Given the description of an element on the screen output the (x, y) to click on. 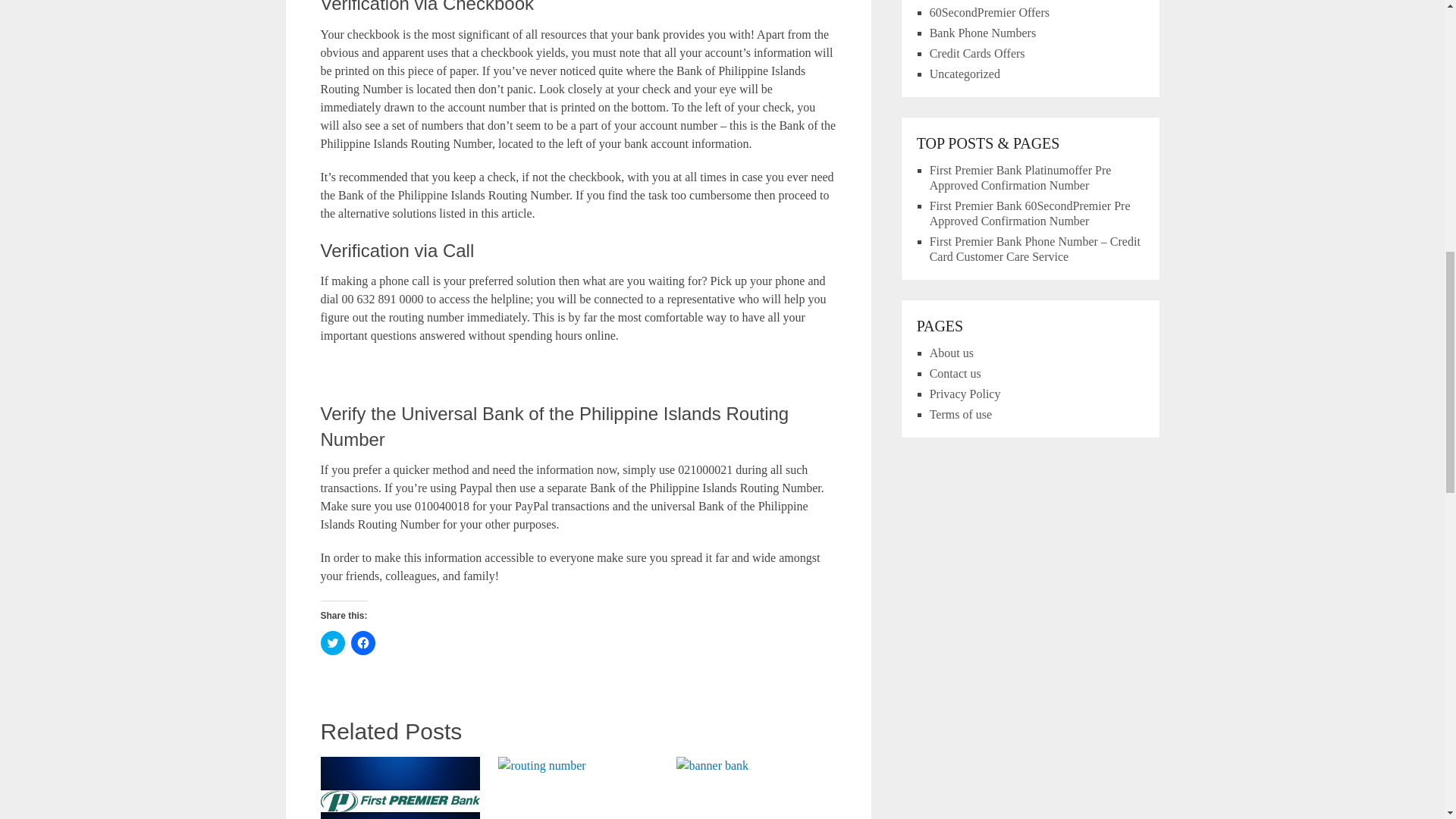
About us (952, 352)
Click to share on Facebook (362, 642)
Bank Phone Numbers (982, 32)
Credit Cards Offers (977, 52)
Banner Bank Routing Numbers: Retrieve Now! (756, 787)
Uncategorized (965, 73)
Contact us (955, 373)
Prudential Routing Number: Three Methods to Try Today! (577, 787)
60SecondPremier Offers (989, 11)
Click to share on Twitter (331, 642)
Banner Bank Routing Numbers: Retrieve Now! (756, 787)
Prudential Routing Number: Three Methods to Try Today! (577, 787)
